Given the description of an element on the screen output the (x, y) to click on. 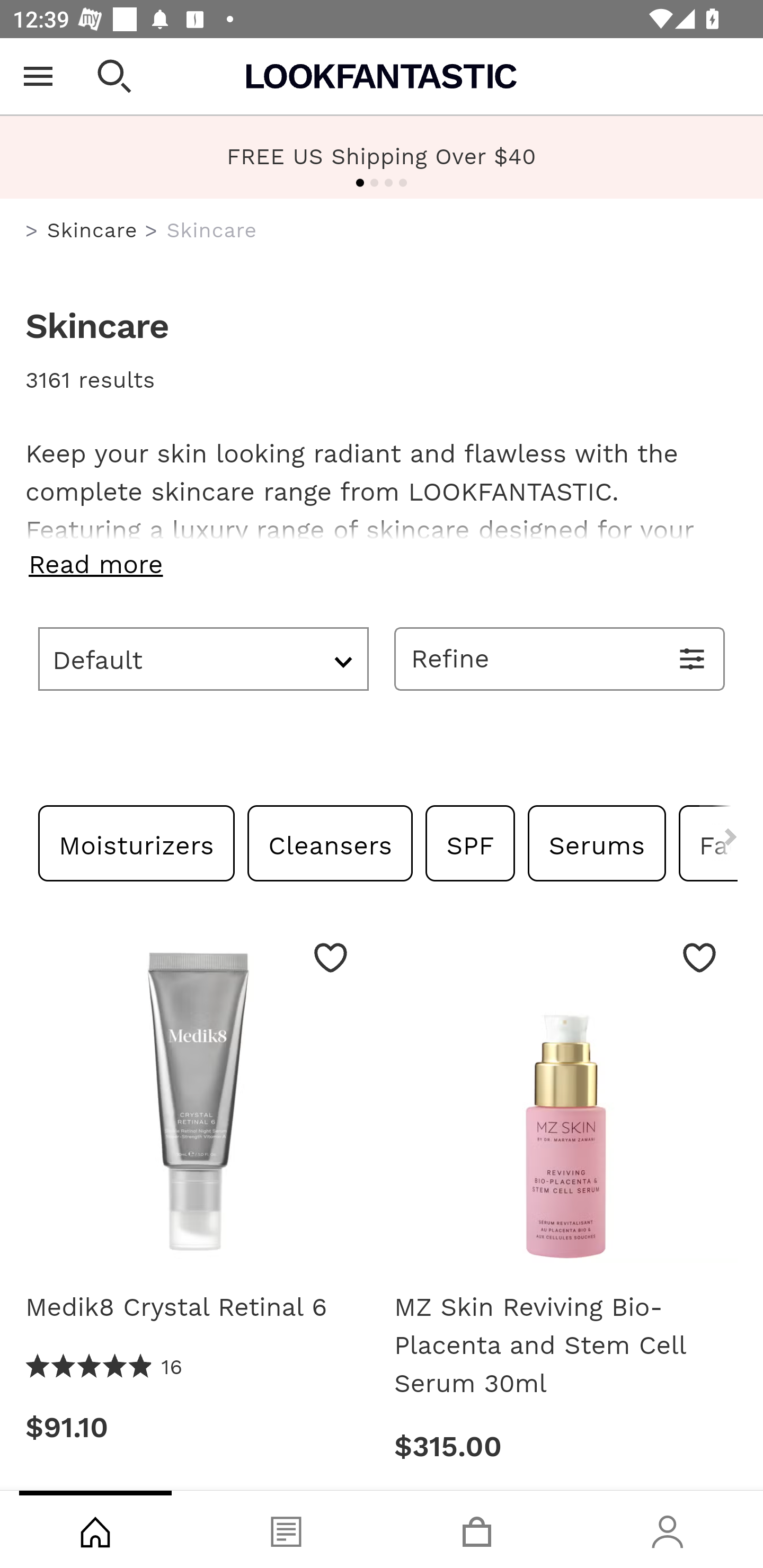
Open Menu (38, 75)
Open search (114, 75)
Lookfantastic USA (381, 75)
FREE US Shipping Over $40 (381, 157)
FREE US Shipping Over $40 (381, 155)
us.lookfantastic (32, 230)
Skincare (91, 230)
Read more (381, 564)
Default (203, 658)
Refine (559, 658)
Shop Moisturizers (136, 842)
Shop Cleansers (329, 842)
Shop SPF (470, 842)
Shop Serums (596, 842)
Medik8 Crystal Retinal 6 (196, 1097)
Save to Wishlist (330, 957)
Save to Wishlist (698, 957)
Medik8 Crystal Retinal 6 (196, 1306)
4.94 Stars 16 Reviews (104, 1367)
Price: $91.10 (196, 1427)
Price: $315.00 (565, 1446)
Shop, tab, 1 of 4 (95, 1529)
Blog, tab, 2 of 4 (285, 1529)
Basket, tab, 3 of 4 (476, 1529)
Account, tab, 4 of 4 (667, 1529)
